Given the description of an element on the screen output the (x, y) to click on. 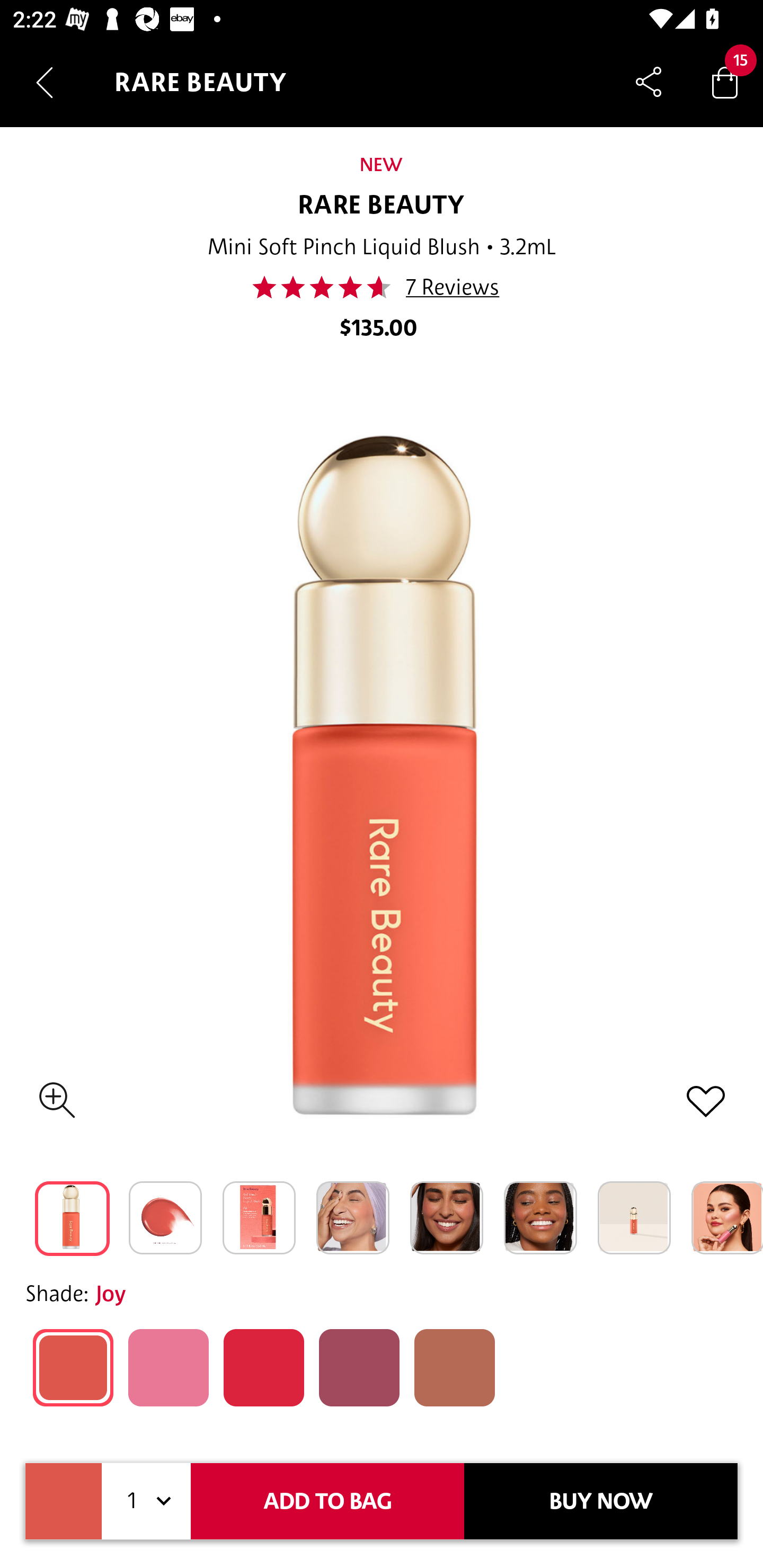
Navigate up (44, 82)
Share (648, 81)
Bag (724, 81)
RARE BEAUTY (381, 205)
46.0 7 Reviews (381, 286)
1 (145, 1500)
ADD TO BAG (326, 1500)
BUY NOW (600, 1500)
